Given the description of an element on the screen output the (x, y) to click on. 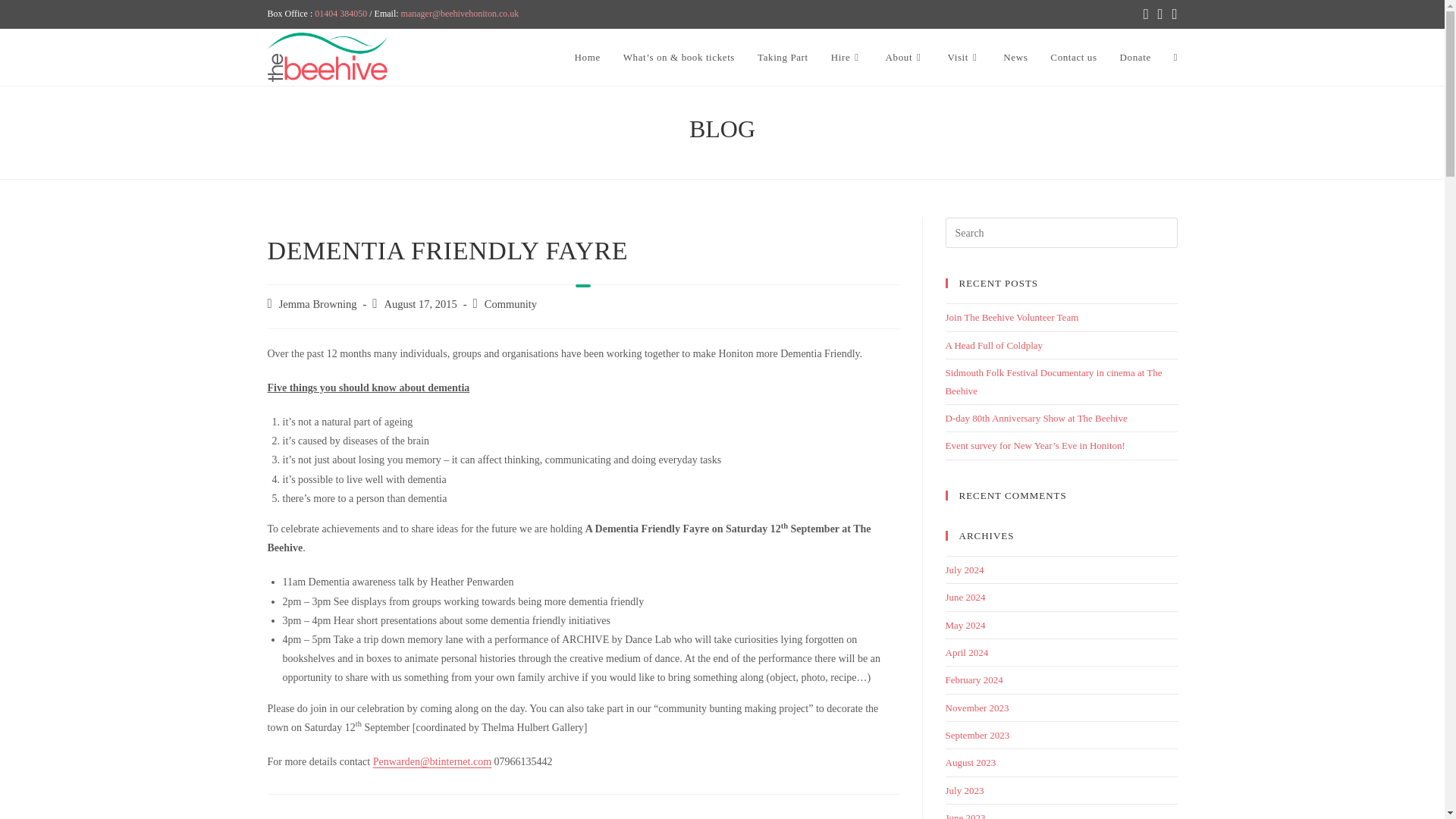
Visit (963, 57)
Hire (847, 57)
Posts by Jemma Browning (317, 304)
About (905, 57)
Donate (1134, 57)
Taking Part (782, 57)
Contact us (1073, 57)
01404 384050 (340, 13)
